Given the description of an element on the screen output the (x, y) to click on. 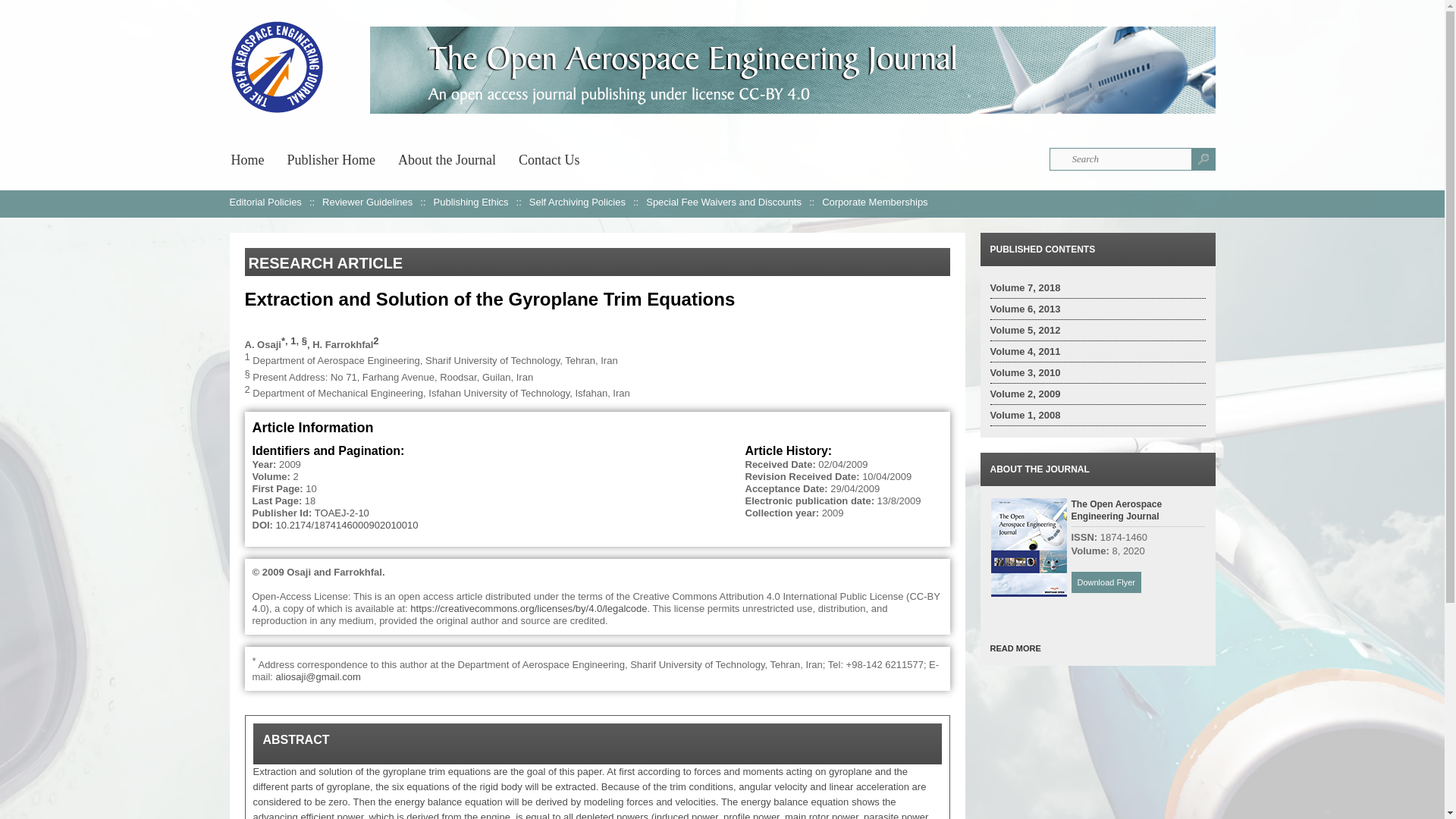
Special Fee Waivers and Discounts (724, 202)
TOAEJ-2-10 (341, 512)
Publisher Home (330, 157)
Volume 3, 2010 (1025, 372)
Volume 2, 2009 (1025, 393)
Volume 4, 2011 (1025, 351)
About the Journal (446, 157)
Download Flyer (1105, 581)
Publishing Ethics (470, 202)
Self Archiving Policies (577, 202)
Editorial Policies (264, 202)
Reviewer Guidelines (366, 202)
Volume 6, 2013 (1025, 308)
Volume 7, 2018 (1025, 287)
Volume 1, 2008 (1025, 414)
